Given the description of an element on the screen output the (x, y) to click on. 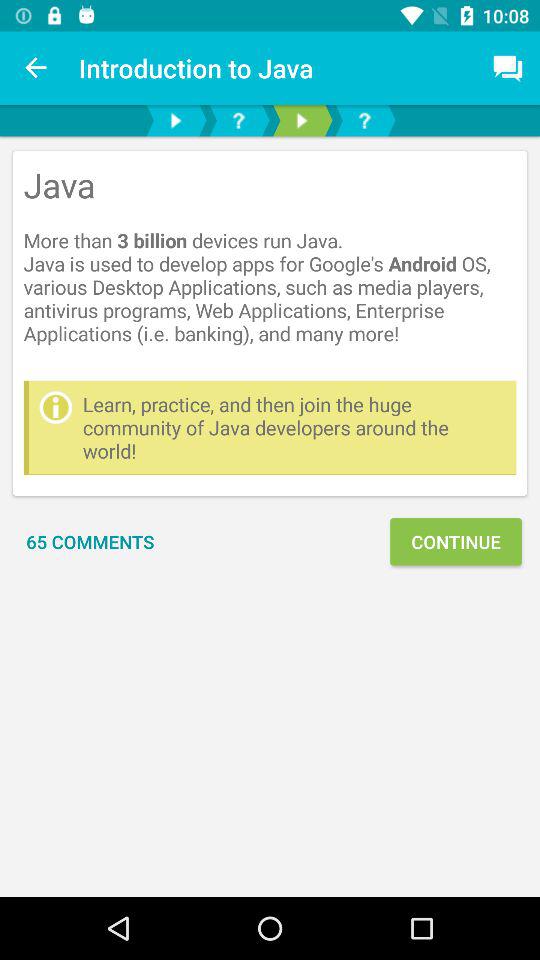
select the item to the left of the continue (90, 541)
